Given the description of an element on the screen output the (x, y) to click on. 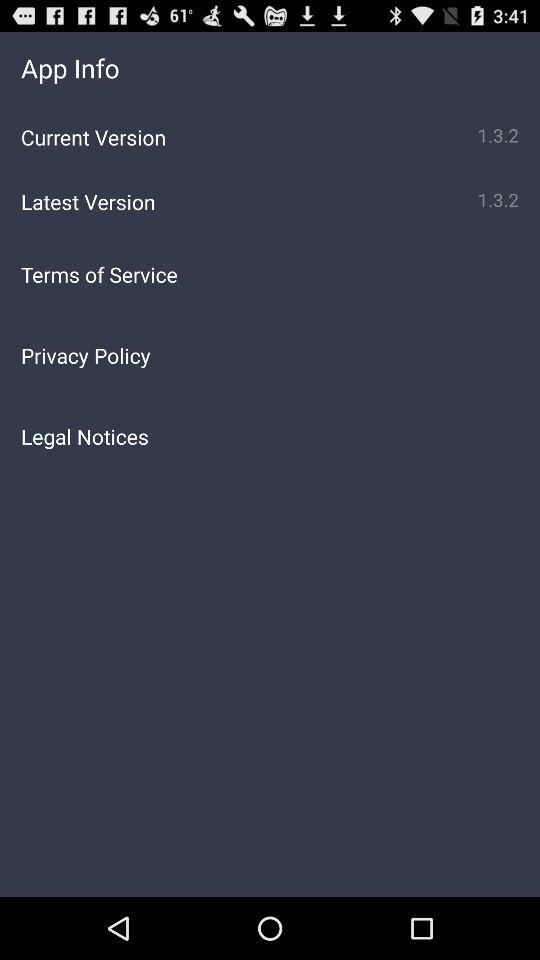
choose terms of service (270, 274)
